Given the description of an element on the screen output the (x, y) to click on. 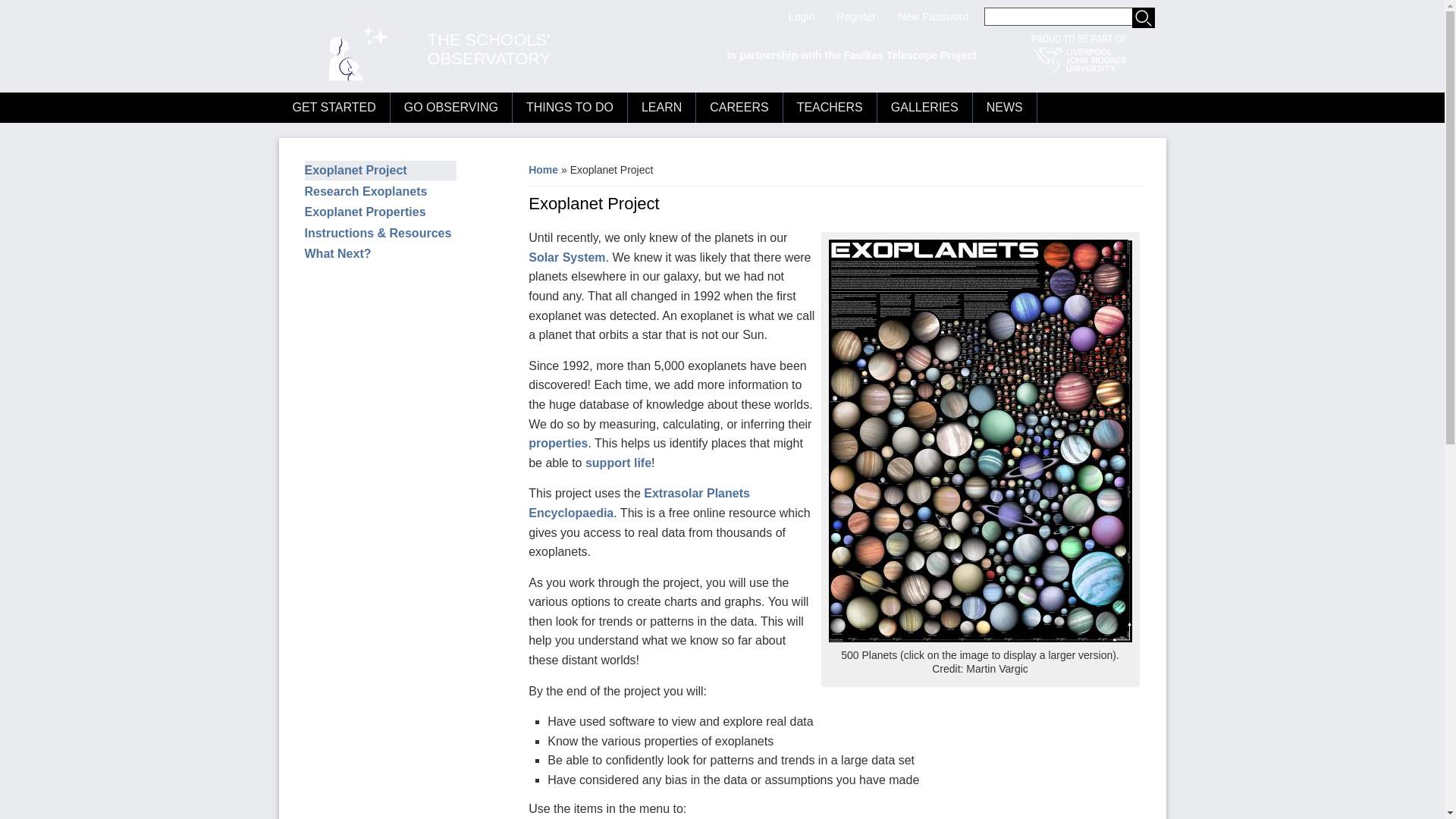
Search (1142, 17)
Login (801, 16)
Search (1142, 17)
Resets your password (932, 16)
LEARN (661, 107)
GET STARTED (334, 107)
CAREERS (739, 107)
Enter the terms you wish to search for. (1069, 16)
Home (354, 49)
THINGS TO DO (569, 107)
THE SCHOOLS' OBSERVATORY (489, 48)
New Password (932, 16)
Register (855, 16)
GO OBSERVING (451, 107)
Home (489, 48)
